Given the description of an element on the screen output the (x, y) to click on. 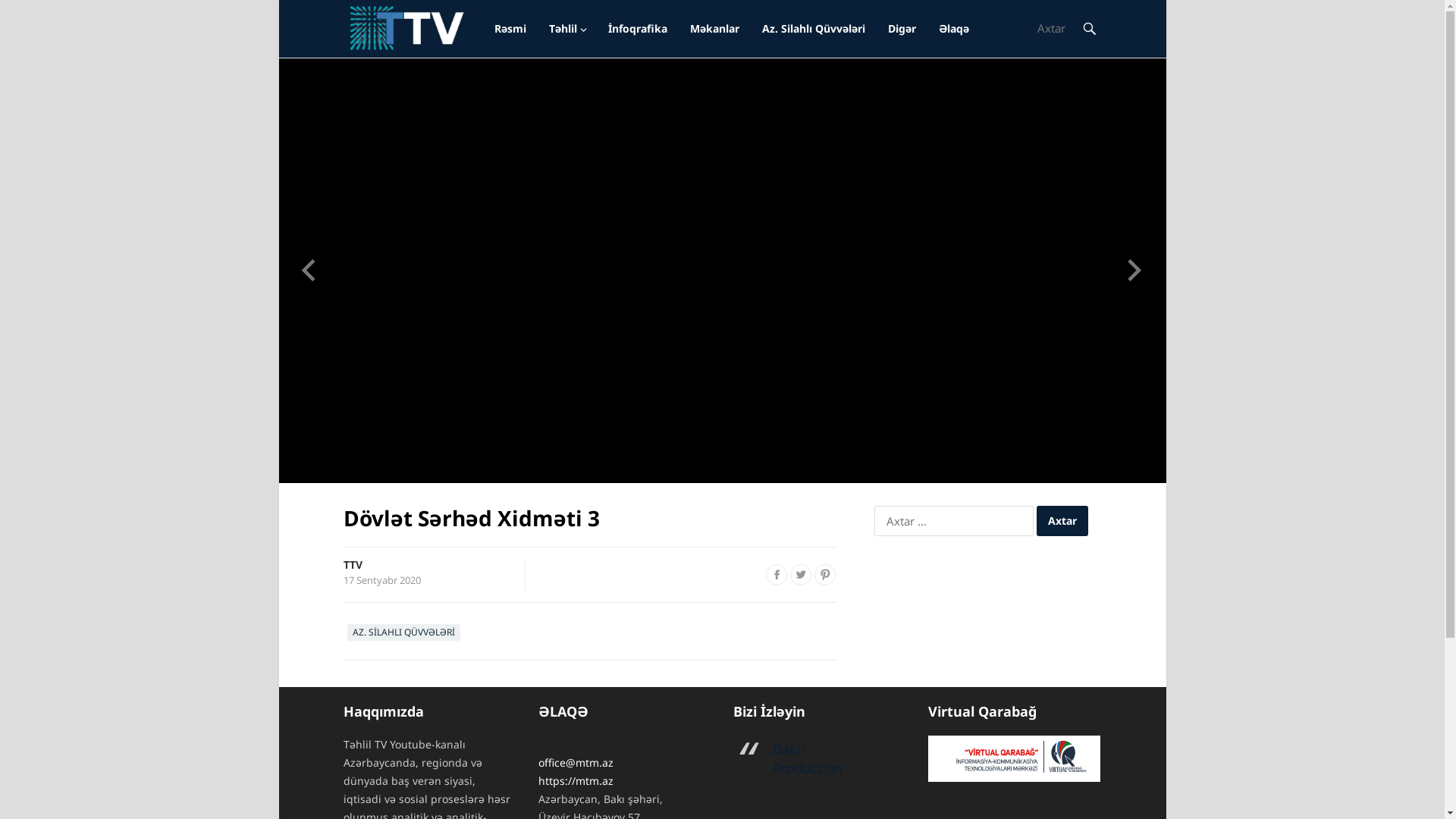
Baku Production Element type: text (805, 758)
office@mtm.az Element type: text (575, 762)
Share on Pinterest Element type: hover (824, 574)
Share on Facebook Element type: hover (776, 574)
Axtar Element type: text (1061, 520)
TTV Element type: text (351, 564)
https://mtm.az Element type: text (575, 780)
Share on Twitter Element type: hover (800, 574)
